Given the description of an element on the screen output the (x, y) to click on. 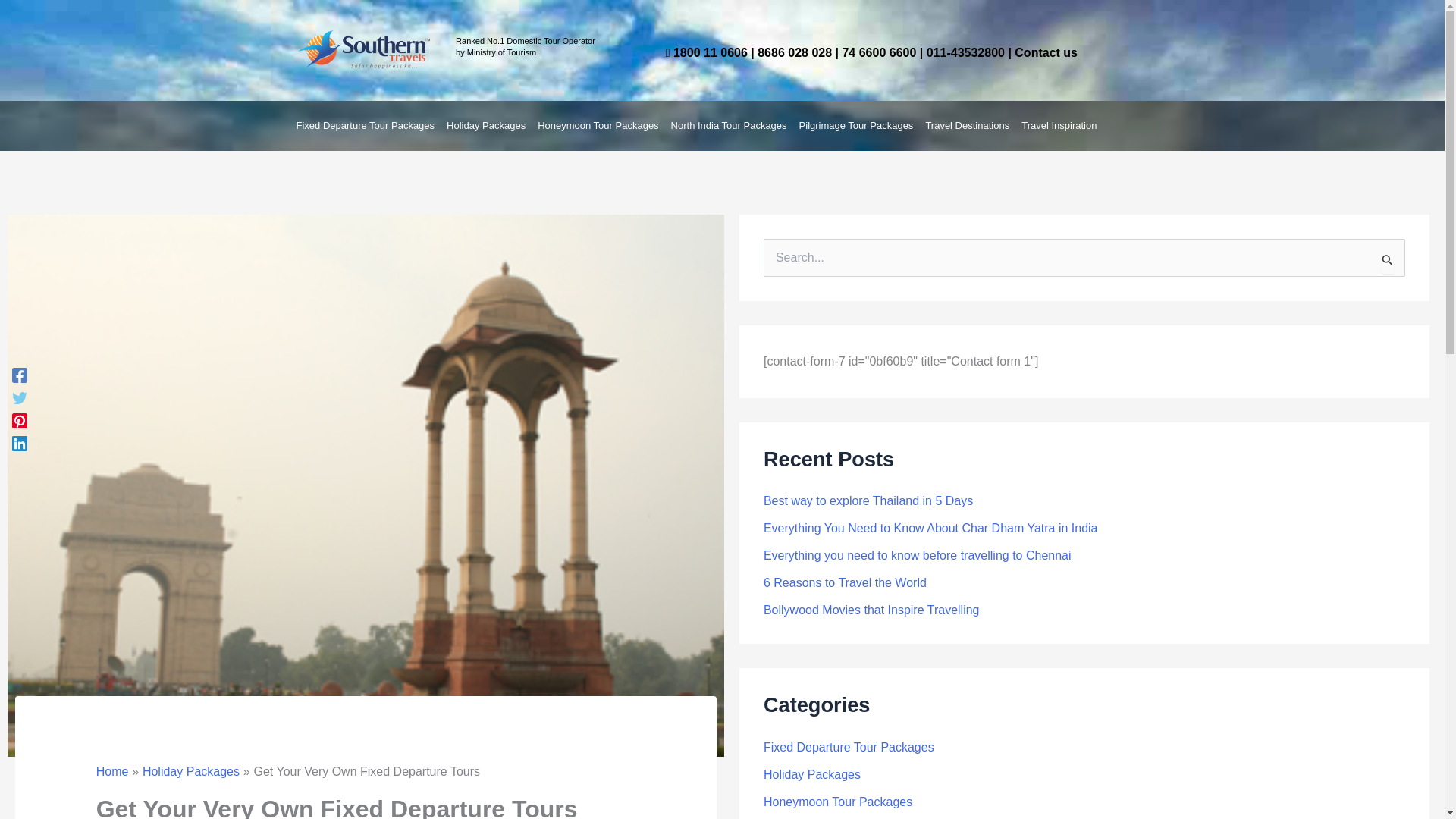
North India Tour Packages (729, 125)
1800 11 0606 (710, 51)
8686 028 028 (794, 51)
Contact us (1045, 51)
Travel Inspiration (1058, 125)
Travel Destinations (966, 125)
Pilgrimage Tour Packages (856, 125)
Home (112, 771)
Honeymoon Tour Packages (597, 125)
011-43532800 (965, 51)
74 6600 6600 (878, 51)
Holiday Packages (486, 125)
Holiday Packages (191, 771)
Fixed Departure Tour Packages (365, 125)
